Given the description of an element on the screen output the (x, y) to click on. 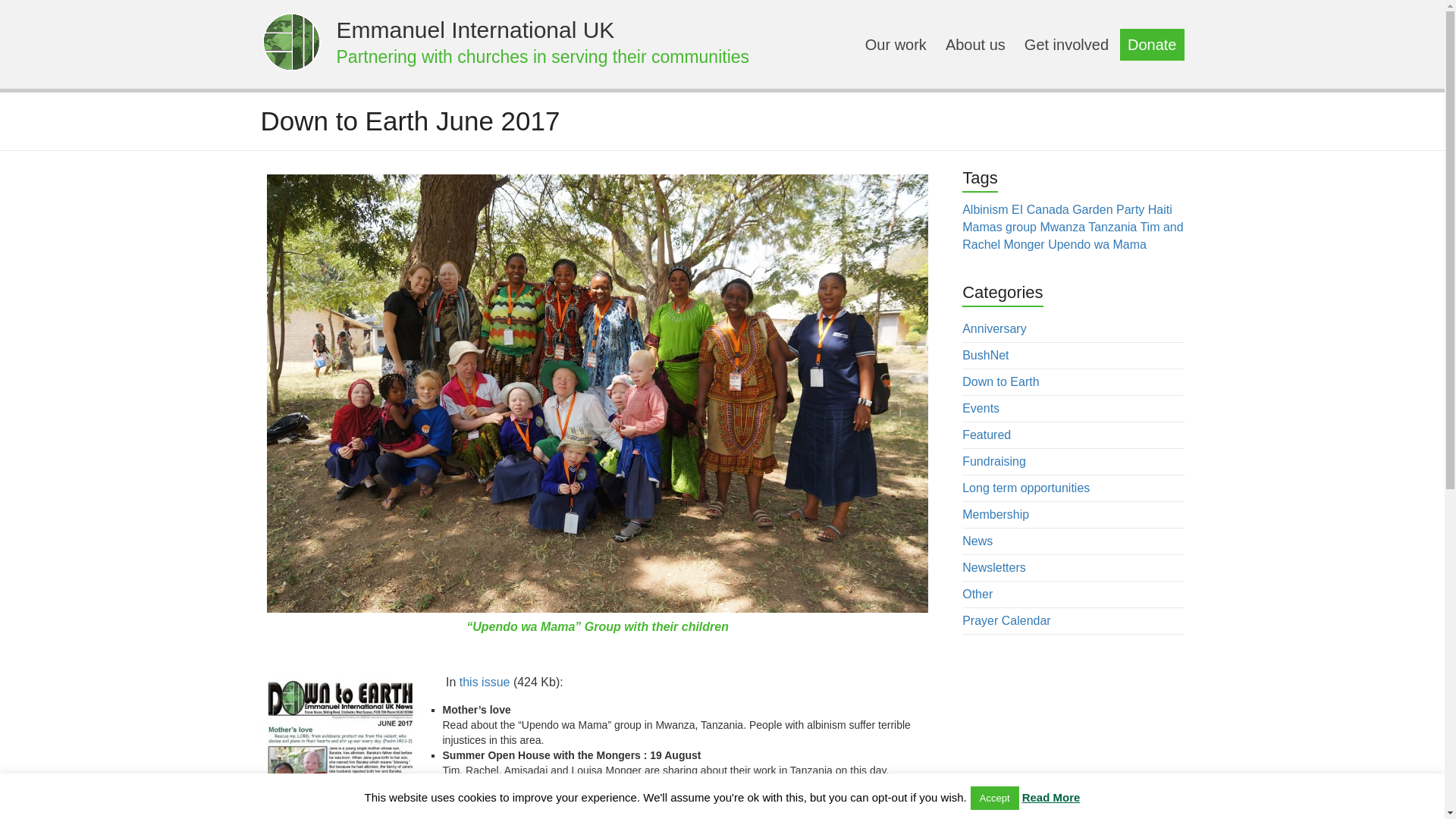
Haiti (1160, 209)
Mamas group (999, 226)
Albinism (984, 209)
Long term opportunities (1025, 487)
Emmanuel International UK (475, 29)
Emmanuel International UK (475, 29)
Tim and Rachel Monger (1072, 235)
Upendo wa Mama (1097, 244)
Down to Earth (1000, 381)
EI Canada (1039, 209)
Fundraising (994, 461)
Emmanuel International UK (290, 40)
Garden Party (1107, 209)
Events (980, 408)
Tanzania (1112, 226)
